Given the description of an element on the screen output the (x, y) to click on. 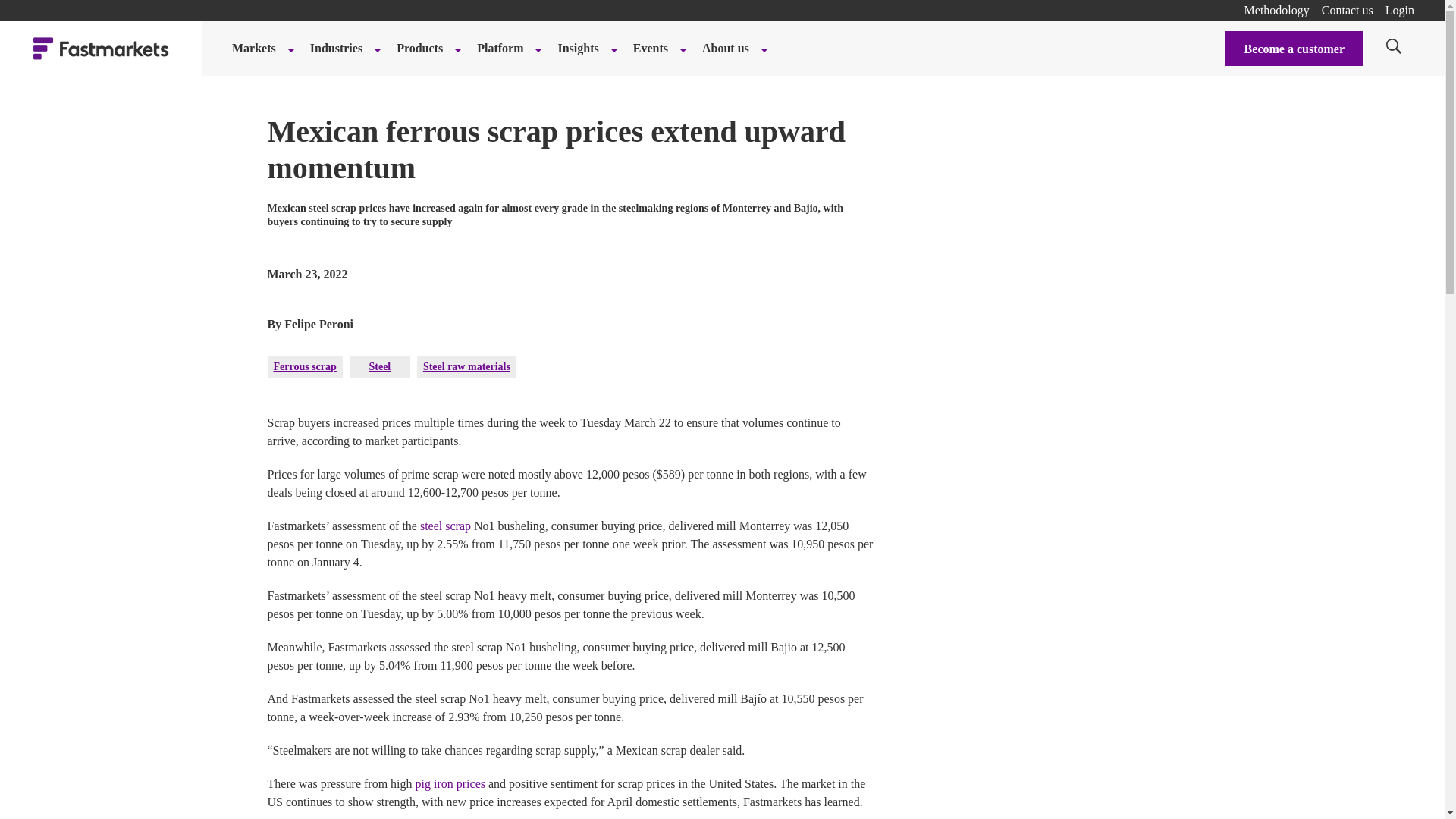
Login (1399, 10)
Contact us (1347, 10)
Methodology (1276, 10)
